Given the description of an element on the screen output the (x, y) to click on. 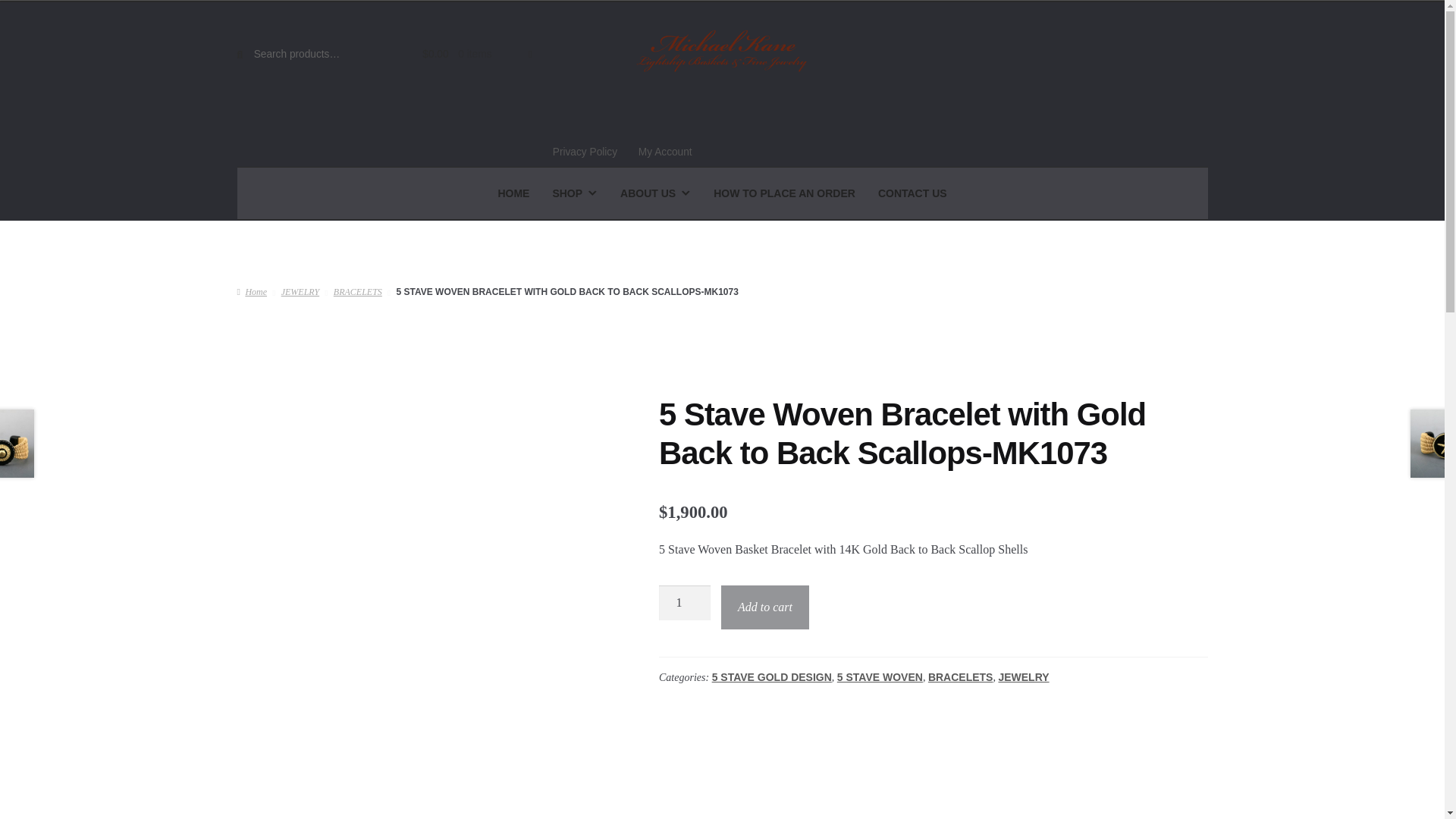
My Account (664, 152)
View your shopping cart (469, 54)
Privacy Policy (584, 152)
1 (684, 602)
SHOP (574, 193)
HOME (513, 193)
